Given the description of an element on the screen output the (x, y) to click on. 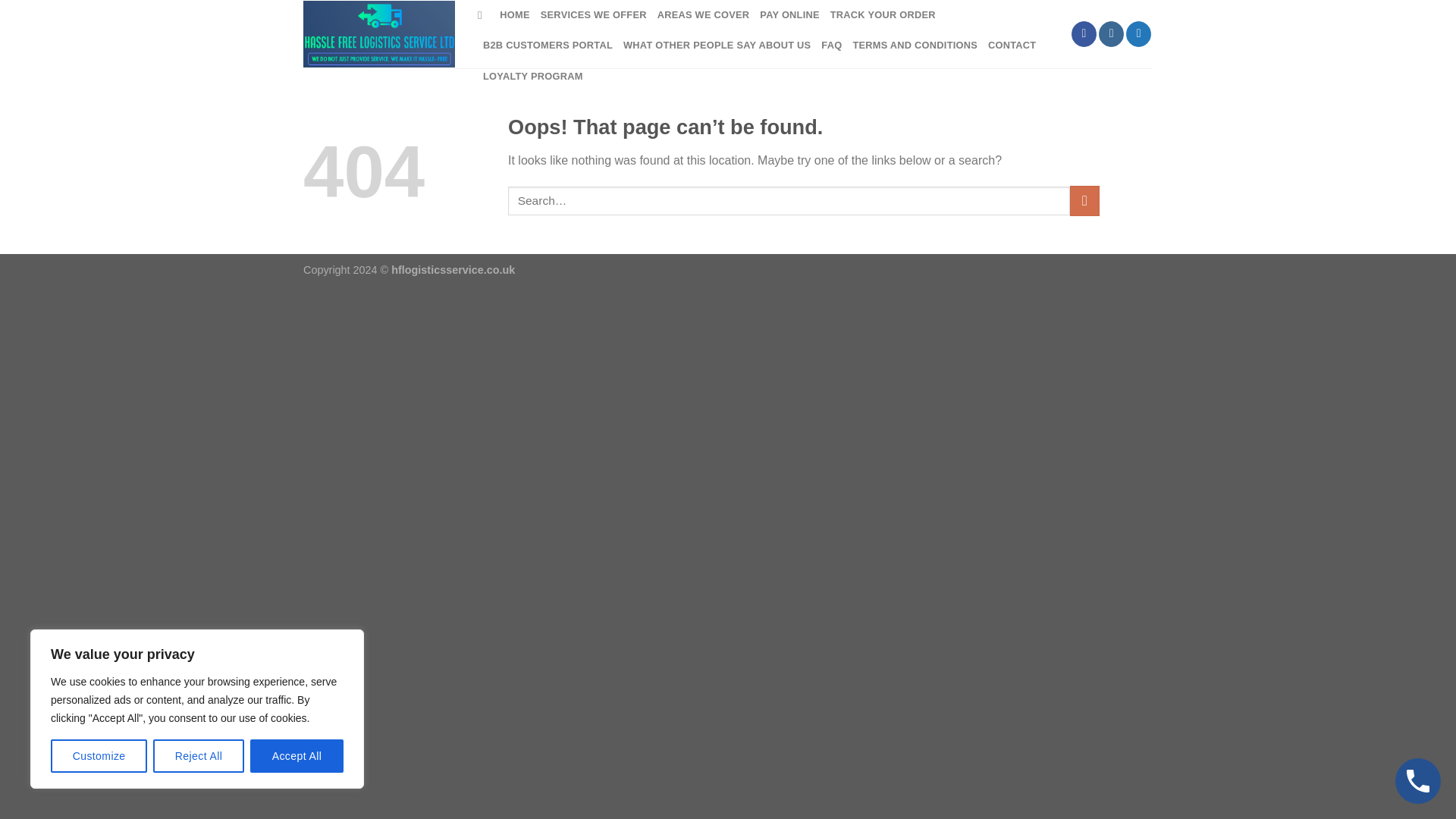
SERVICES WE OFFER (593, 15)
Follow on Twitter (1138, 33)
AREAS WE COVER (703, 15)
B2B CUSTOMERS PORTAL (547, 45)
Follow on Instagram (1111, 33)
CONTACT (1011, 45)
HOME (514, 15)
Hassle Free Logistics Service - Logistics Service Free (378, 33)
LOYALTY PROGRAM (533, 76)
PAY ONLINE (789, 15)
Follow on Facebook (1083, 33)
TRACK YOUR ORDER (882, 15)
TERMS AND CONDITIONS (913, 45)
WHAT OTHER PEOPLE SAY ABOUT US (716, 45)
